Given the description of an element on the screen output the (x, y) to click on. 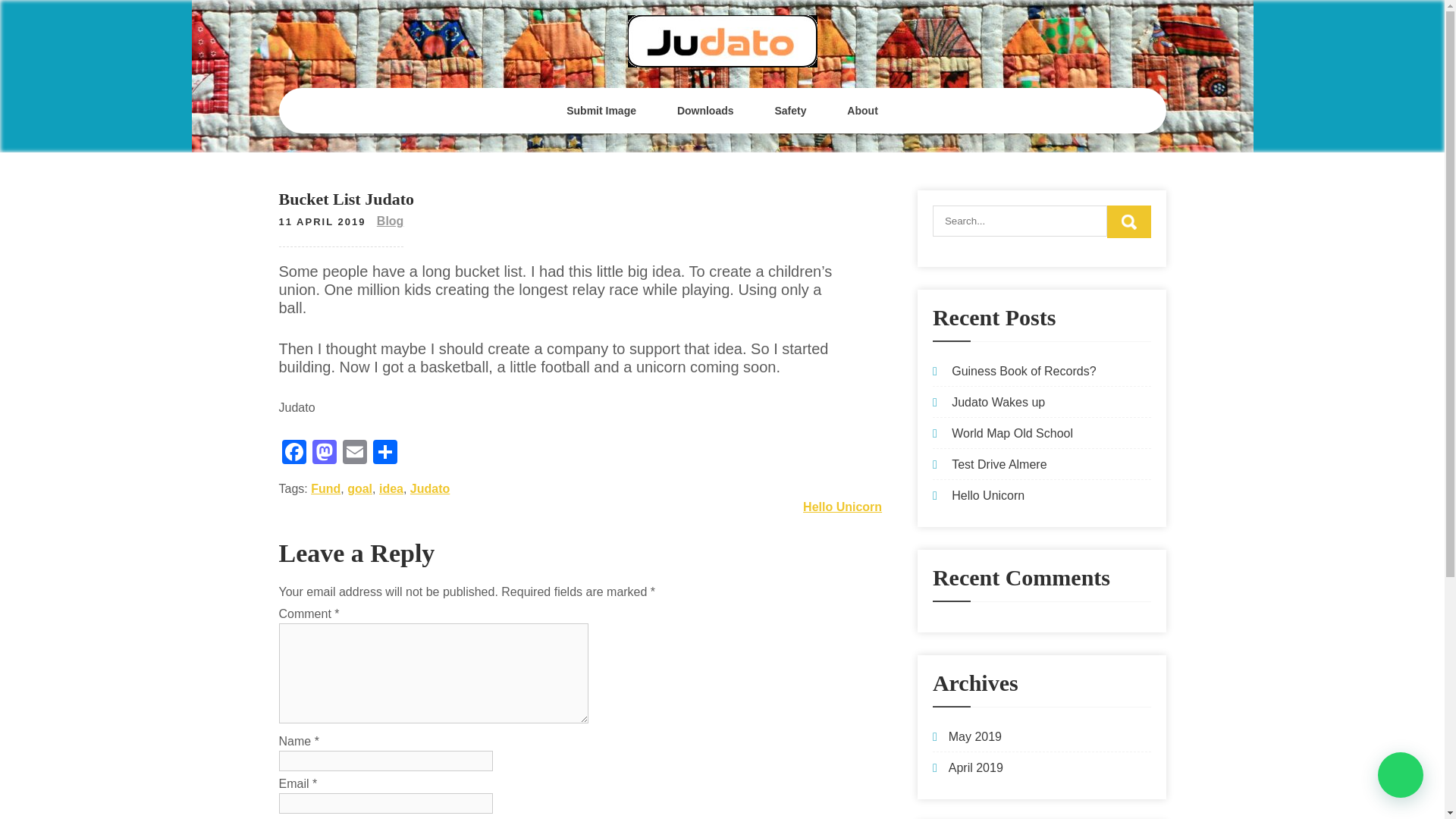
Judato (429, 488)
Search (1128, 221)
Safety (790, 110)
Share (384, 453)
Downloads (705, 110)
Hello Unicorn (842, 506)
Submit Image (601, 110)
Email (354, 453)
Test Drive Almere (999, 463)
Facebook (293, 453)
Blog (390, 220)
Hello Unicorn (988, 495)
Facebook (293, 453)
April 2019 (976, 767)
Mastodon (323, 453)
